Given the description of an element on the screen output the (x, y) to click on. 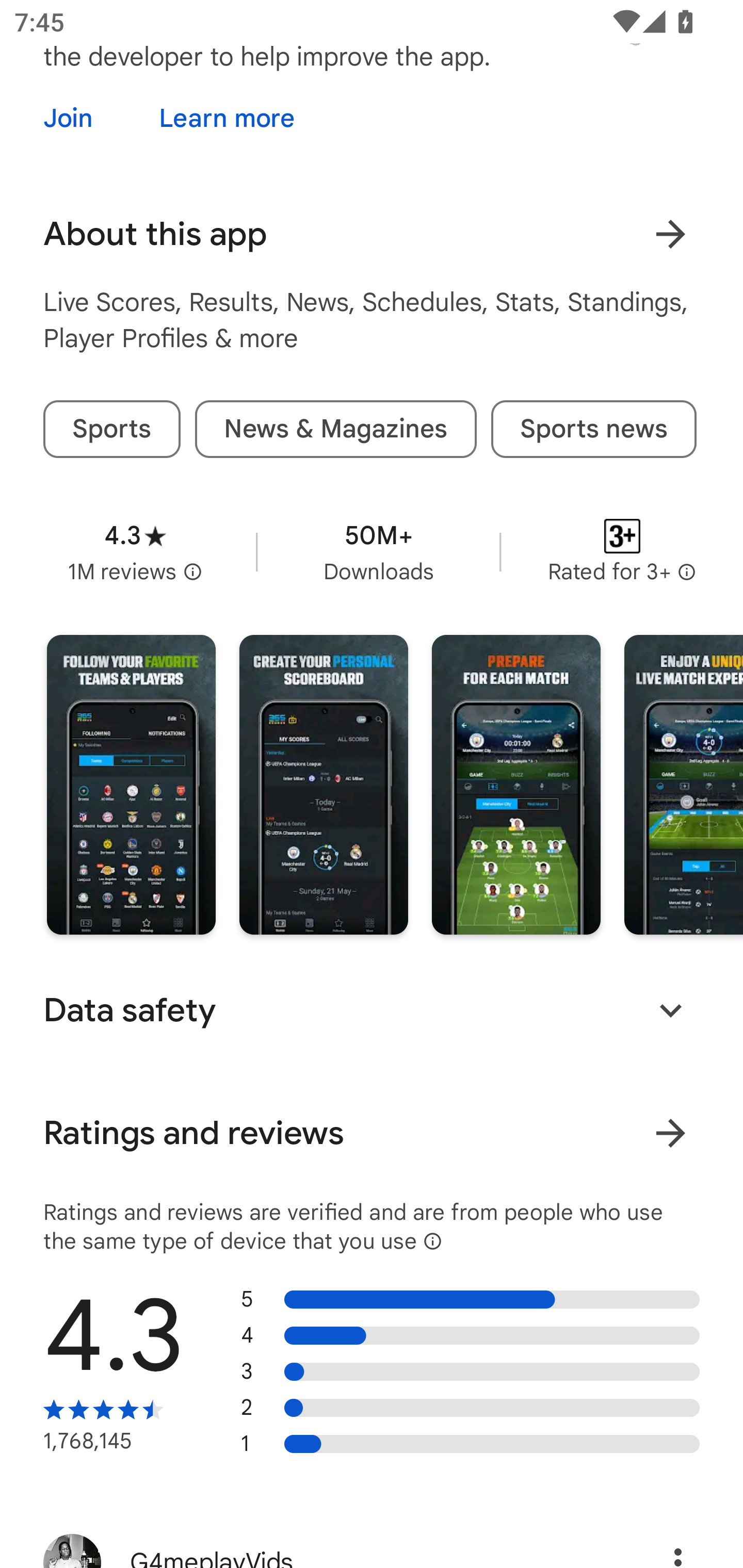
Join (86, 118)
Learn more (226, 118)
About this app Learn more About this app (371, 234)
Learn more About this app (670, 234)
Sports tag (111, 428)
News & Magazines tag (335, 428)
Sports news tag (593, 428)
Average rating 4.3 stars in 1 million reviews (135, 551)
Content rating Rated for 3+ (622, 551)
Screenshot "1" of "7" (130, 784)
Screenshot "2" of "7" (323, 784)
Screenshot "3" of "7" (515, 784)
Screenshot "4" of "7" (683, 784)
Data safety Expand (371, 1010)
Expand (670, 1010)
Ratings and reviews View all ratings and reviews (371, 1132)
View all ratings and reviews (670, 1132)
Options (655, 1543)
